Given the description of an element on the screen output the (x, y) to click on. 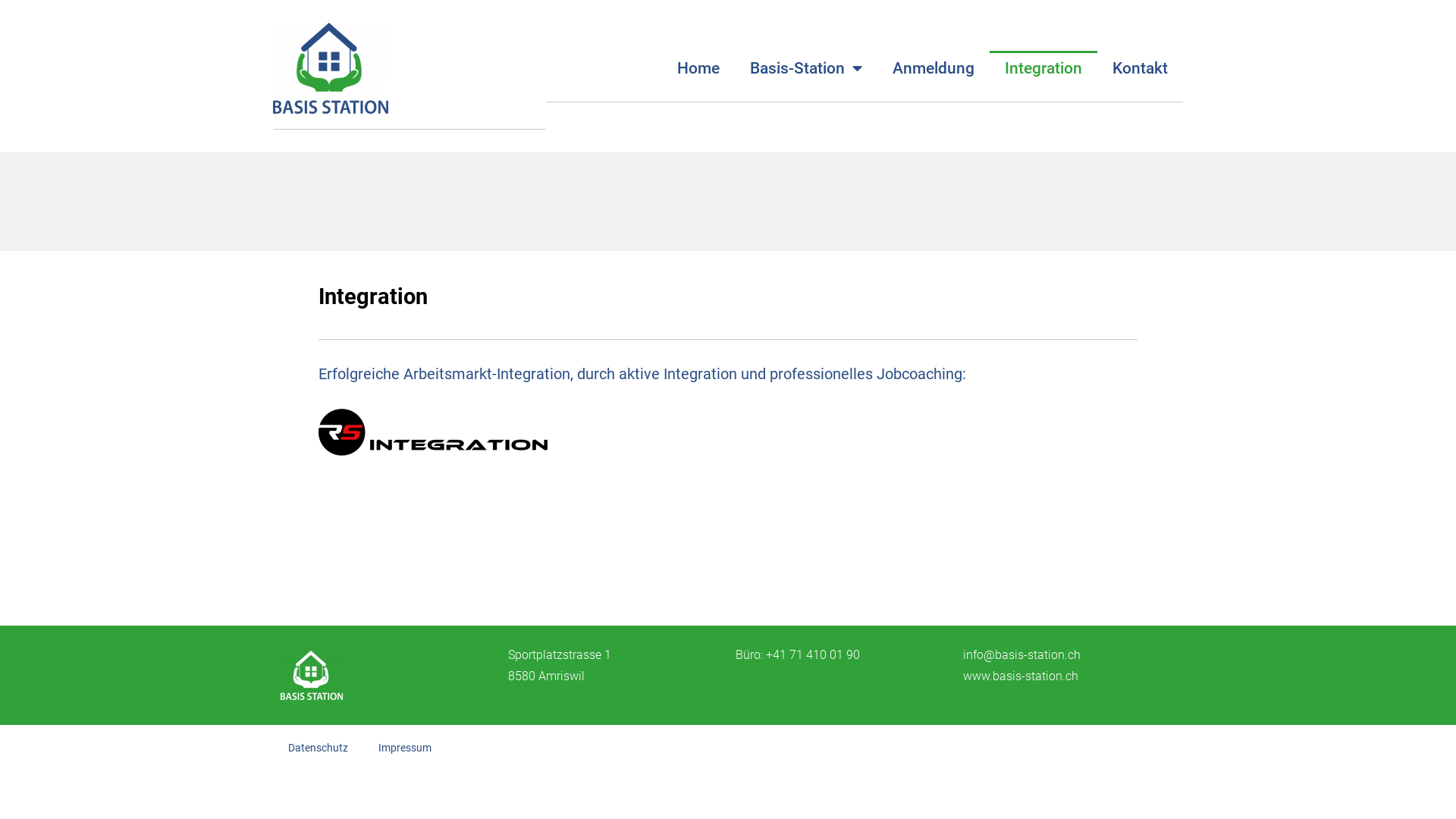
Integration Element type: text (1043, 67)
Basis-Station Element type: hover (330, 67)
Anmeldung Element type: text (933, 67)
basis-station-w.png Element type: hover (311, 674)
Datenschutz Element type: text (318, 747)
Basis-Station Element type: text (805, 67)
Home Element type: text (698, 67)
Kontakt Element type: text (1140, 67)
Impressum Element type: text (404, 747)
